Given the description of an element on the screen output the (x, y) to click on. 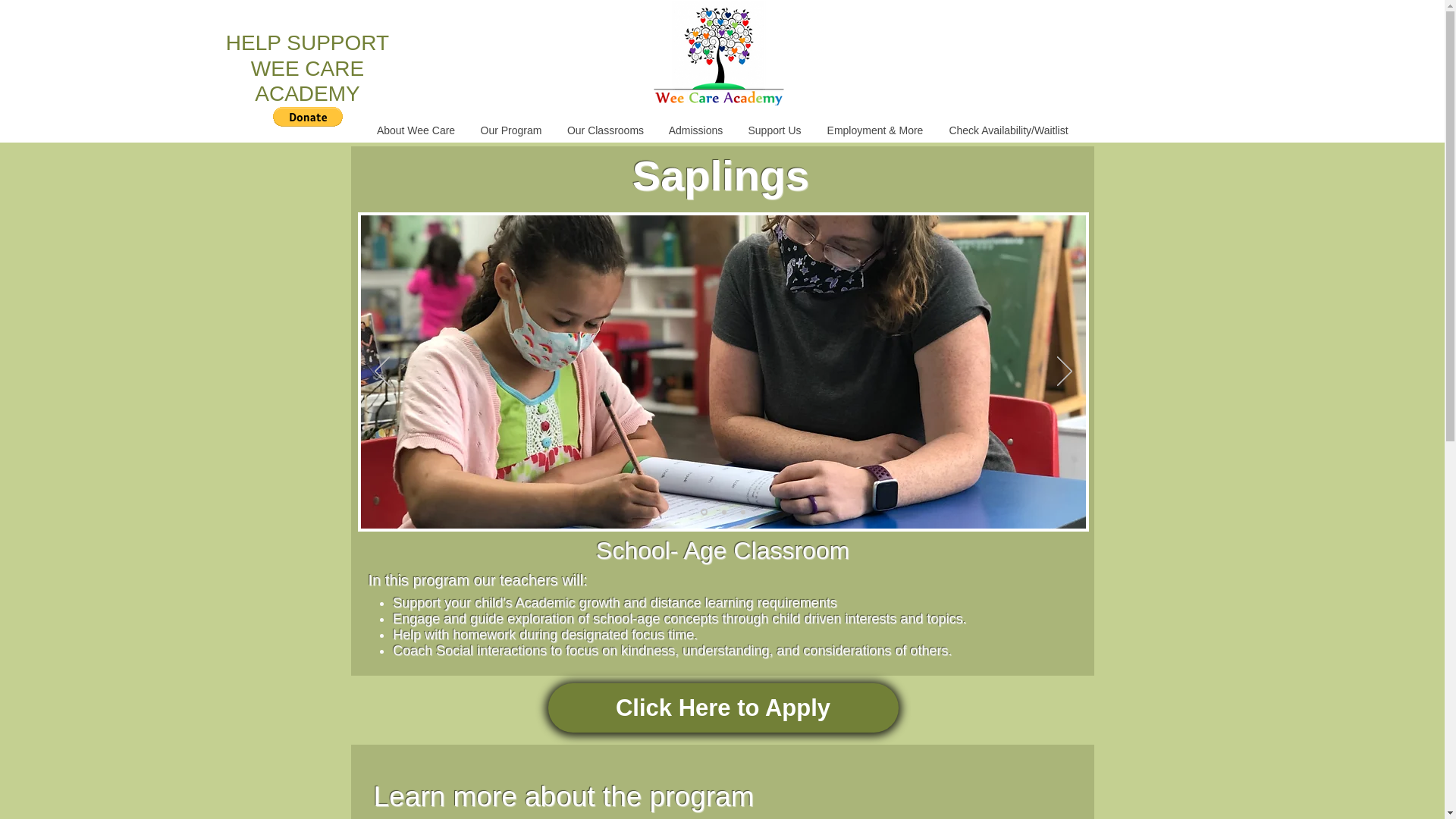
Click Here to Apply (722, 707)
Support Us (774, 130)
Admissions (695, 130)
Our Program (510, 130)
About Wee Care (415, 130)
Our Classrooms (605, 130)
